Given the description of an element on the screen output the (x, y) to click on. 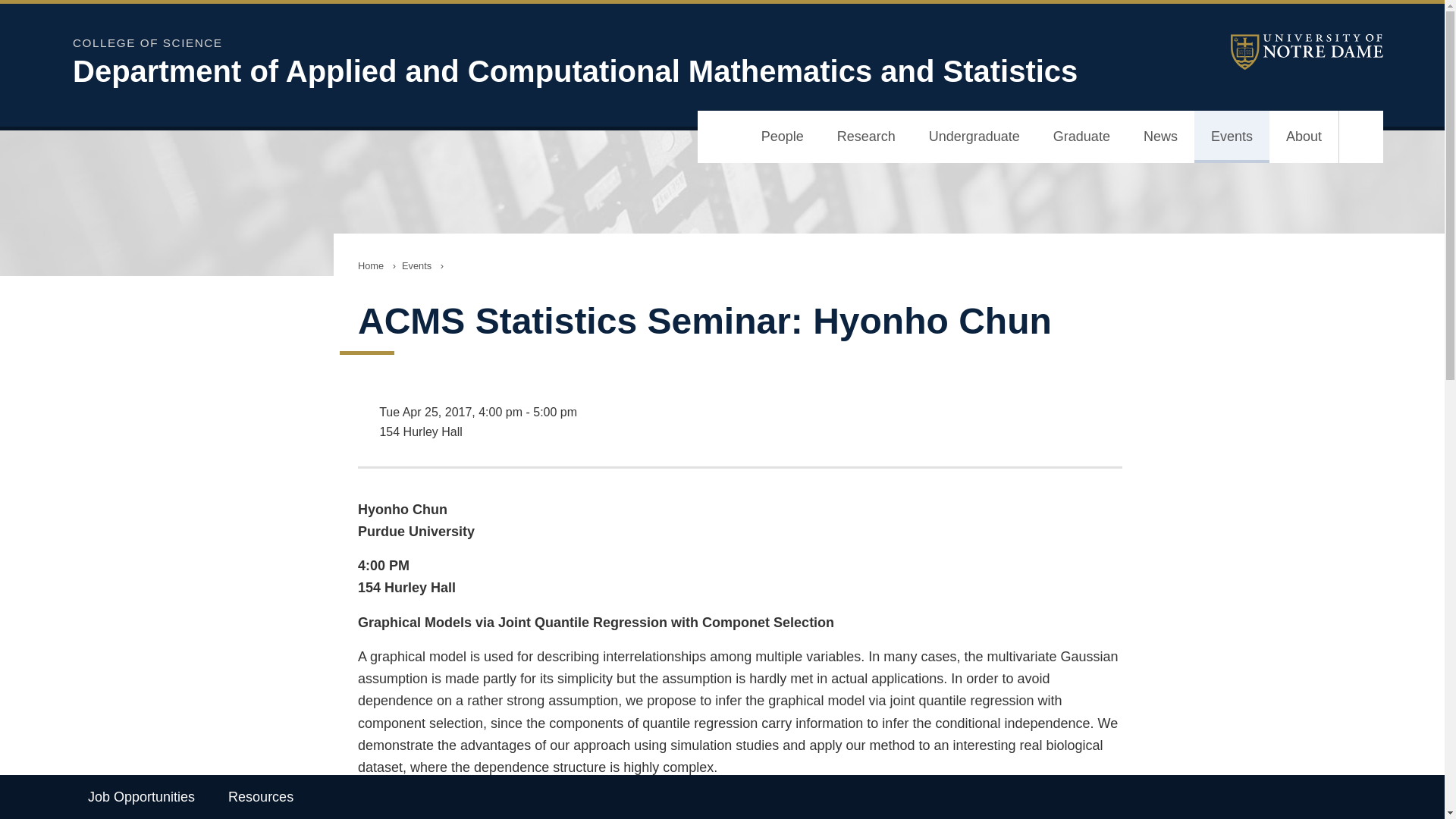
Events (417, 265)
Graduate (1081, 136)
Events (1231, 136)
Research (866, 136)
Tue Apr 25, 2017  4:00 pm -  5:00 pm (740, 412)
News (1159, 136)
People (782, 136)
Home (371, 265)
University of Notre Dame (1288, 51)
